Given the description of an element on the screen output the (x, y) to click on. 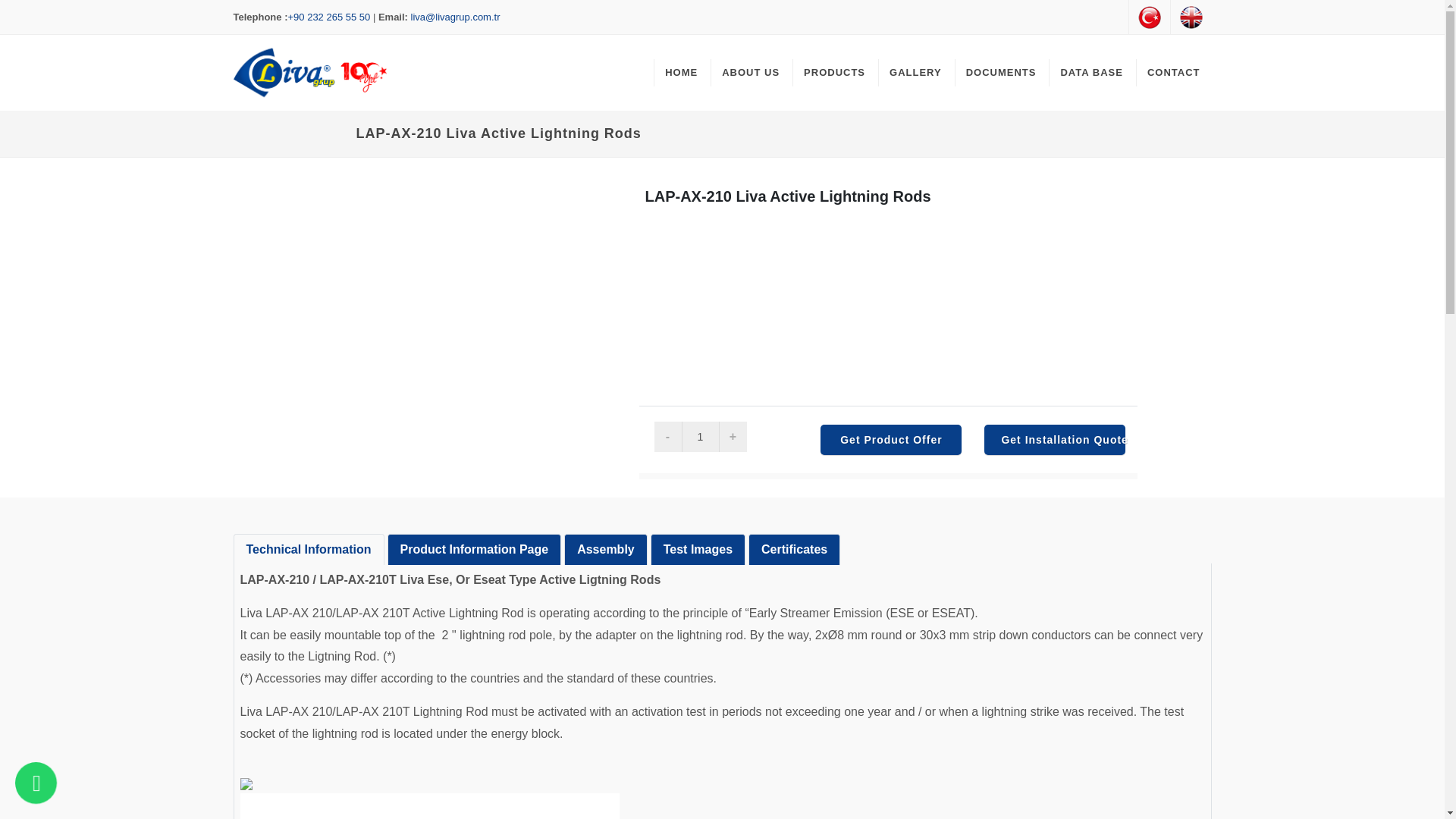
ABOUT US (750, 72)
- (667, 436)
1 (700, 436)
English (1190, 16)
PRODUCTS (834, 72)
GALLERY (915, 72)
Hello, I want to get information (35, 782)
English (1190, 17)
Qty (700, 436)
